Given the description of an element on the screen output the (x, y) to click on. 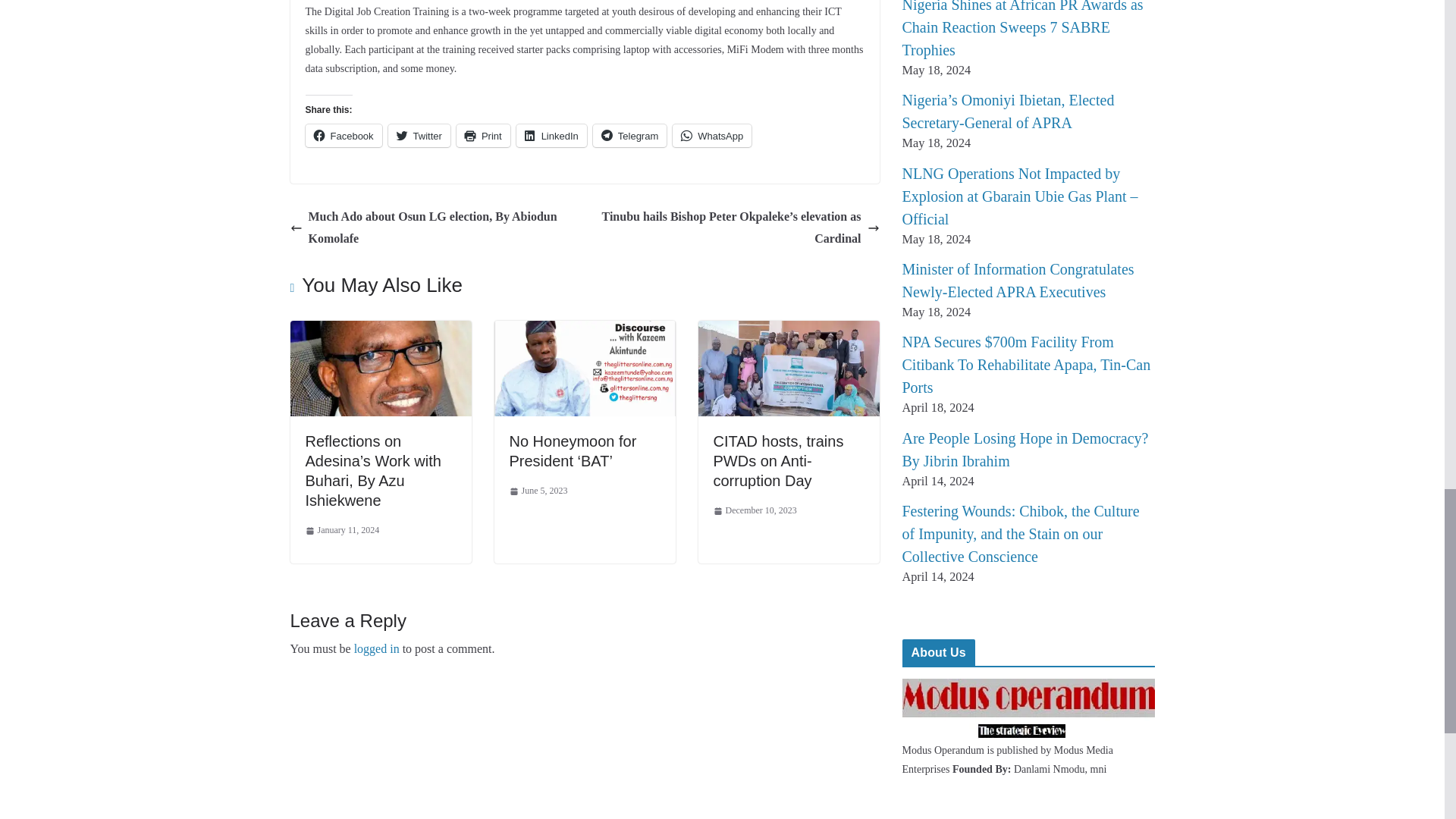
Telegram (629, 135)
Click to share on Telegram (629, 135)
Click to share on Twitter (418, 135)
Facebook (342, 135)
Twitter (418, 135)
CITAD hosts, trains PWDs on Anti-corruption Day (778, 460)
Click to share on Facebook (342, 135)
December 10, 2023 (754, 510)
Click to share on LinkedIn (551, 135)
June 5, 2023 (538, 491)
Print (484, 135)
LinkedIn (551, 135)
January 11, 2024 (341, 530)
WhatsApp (711, 135)
Much Ado about Osun LG election, By Abiodun Komolafe (432, 228)
